Given the description of an element on the screen output the (x, y) to click on. 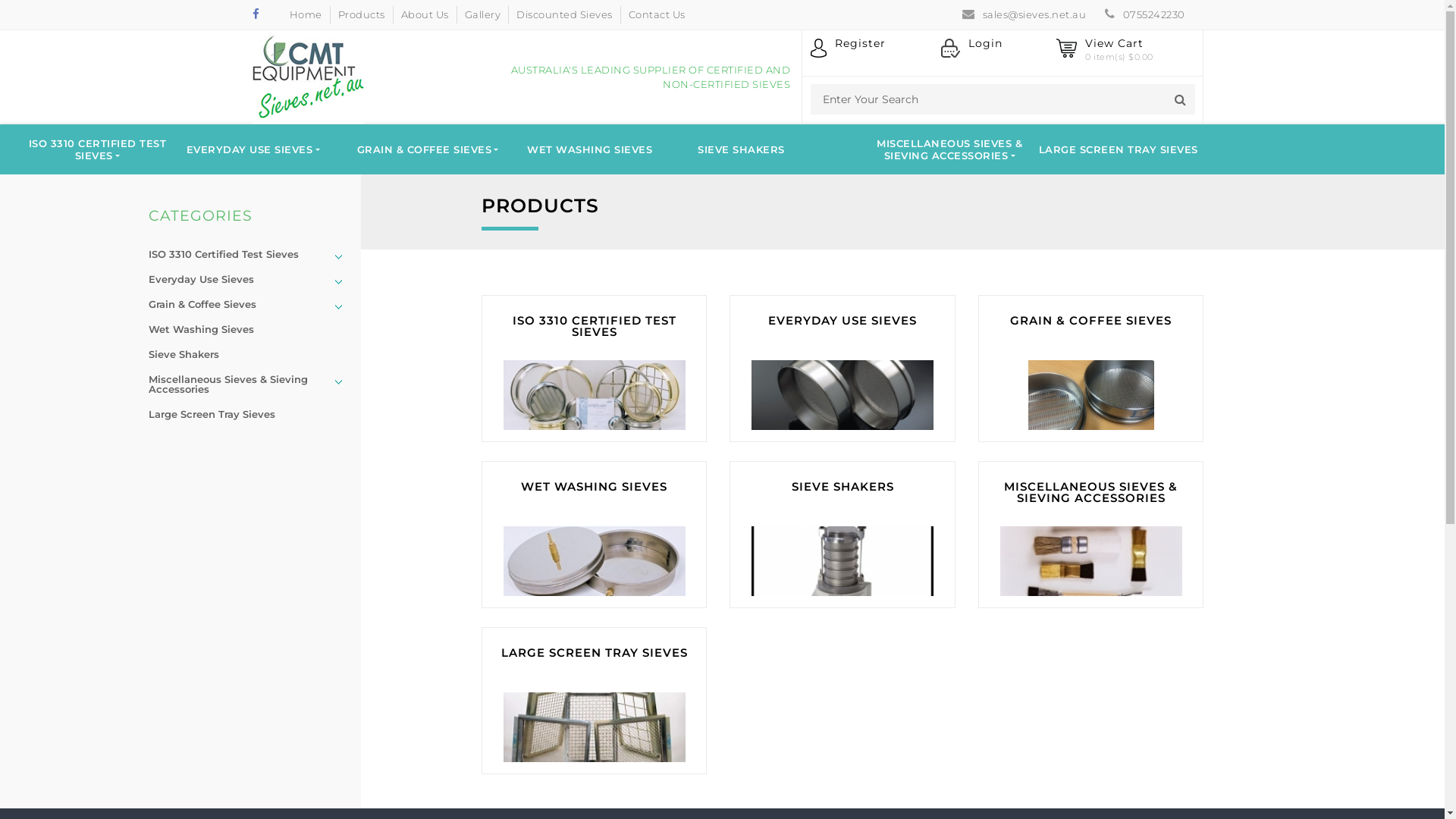
MISCELLANEOUS SIEVES & SIEVING ACCESSORIES Element type: text (1090, 534)
MISCELLANEOUS SIEVES & SIEVING ACCESSORIES Element type: text (949, 149)
ISO 3310 Certified Test Sieves Element type: text (248, 253)
Contact Us Element type: text (660, 14)
Miscellaneous Sieves & Sieving Accessories Element type: text (248, 384)
LARGE SCREEN TRAY SIEVES Element type: text (1117, 149)
View Cart
0 item(s) $0.00 Element type: text (1104, 50)
Register
  Element type: text (847, 50)
SIEVE SHAKERS Element type: text (740, 149)
Products Element type: text (365, 14)
0755242230 Element type: text (1148, 14)
Gallery Element type: text (486, 14)
Discounted Sieves Element type: text (568, 14)
WET WASHING SIEVES Element type: text (593, 534)
  Element type: text (337, 306)
Everyday Use Sieves Element type: text (248, 278)
GRAIN & COFFEE SIEVES Element type: text (1090, 368)
ISO 3310 CERTIFIED TEST SIEVES Element type: text (97, 149)
WET WASHING SIEVES Element type: text (589, 149)
Wet Washing Sieves Element type: text (248, 329)
Sieve Shakers Element type: text (248, 354)
  Element type: text (337, 381)
LARGE SCREEN TRAY SIEVES Element type: text (593, 700)
  Element type: text (337, 256)
Home Element type: text (309, 14)
Large Screen Tray Sieves Element type: text (248, 413)
  Element type: text (337, 281)
sales@sieves.net.au Element type: text (1027, 14)
ISO 3310 CERTIFIED TEST SIEVES Element type: text (593, 368)
About Us Element type: text (428, 14)
SIEVE SHAKERS Element type: text (841, 534)
Login
  Element type: text (970, 50)
EVERYDAY USE SIEVES Element type: text (252, 149)
GRAIN & COFFEE SIEVES Element type: text (427, 149)
EVERYDAY USE SIEVES Element type: text (841, 368)
Grain & Coffee Sieves Element type: text (248, 303)
